Given the description of an element on the screen output the (x, y) to click on. 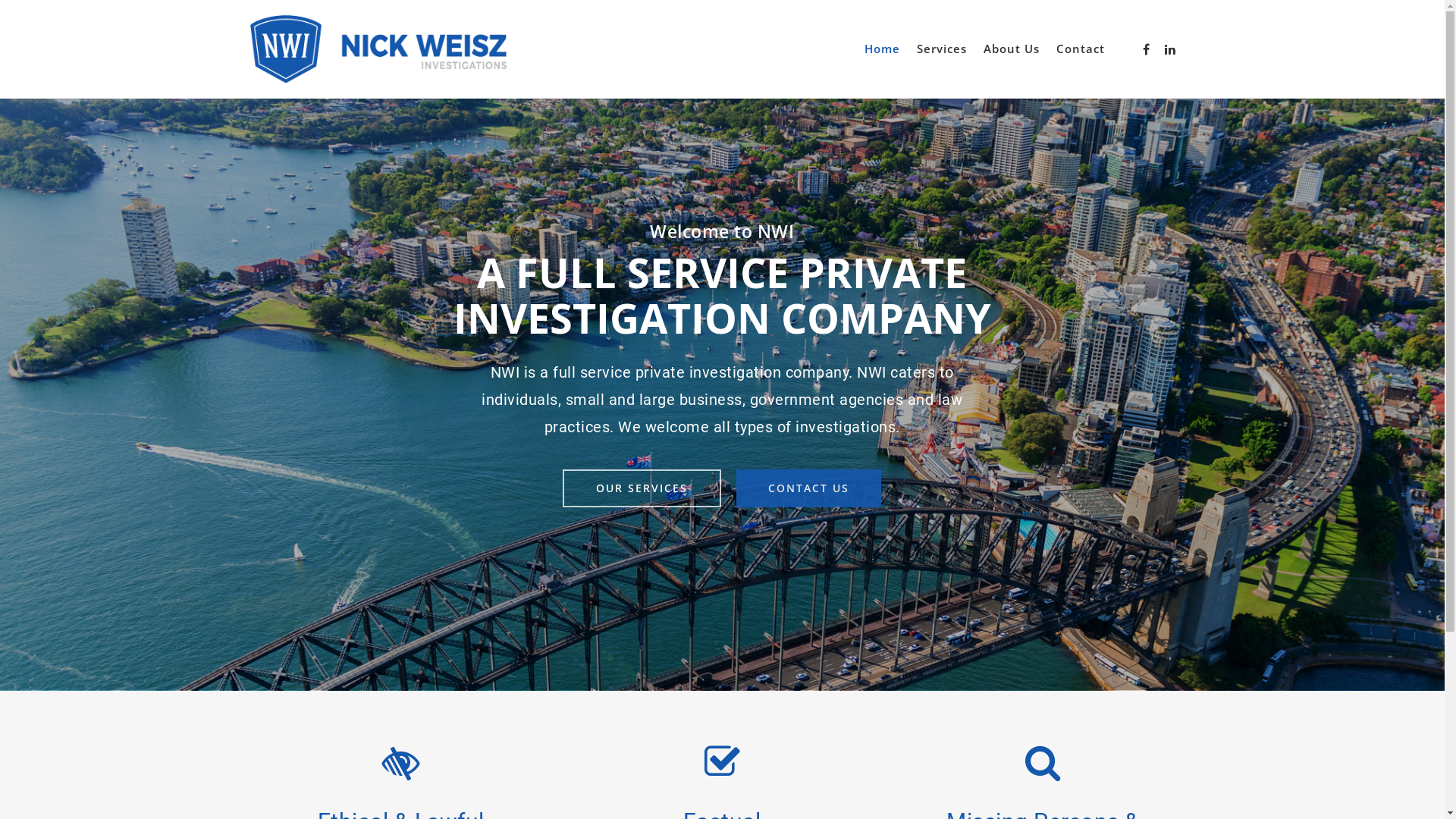
About Us Element type: text (1011, 56)
Home Element type: text (881, 56)
CONTACT US Element type: text (808, 488)
Contact Element type: text (1080, 56)
Services Element type: text (941, 56)
OUR SERVICES Element type: text (641, 488)
